Given the description of an element on the screen output the (x, y) to click on. 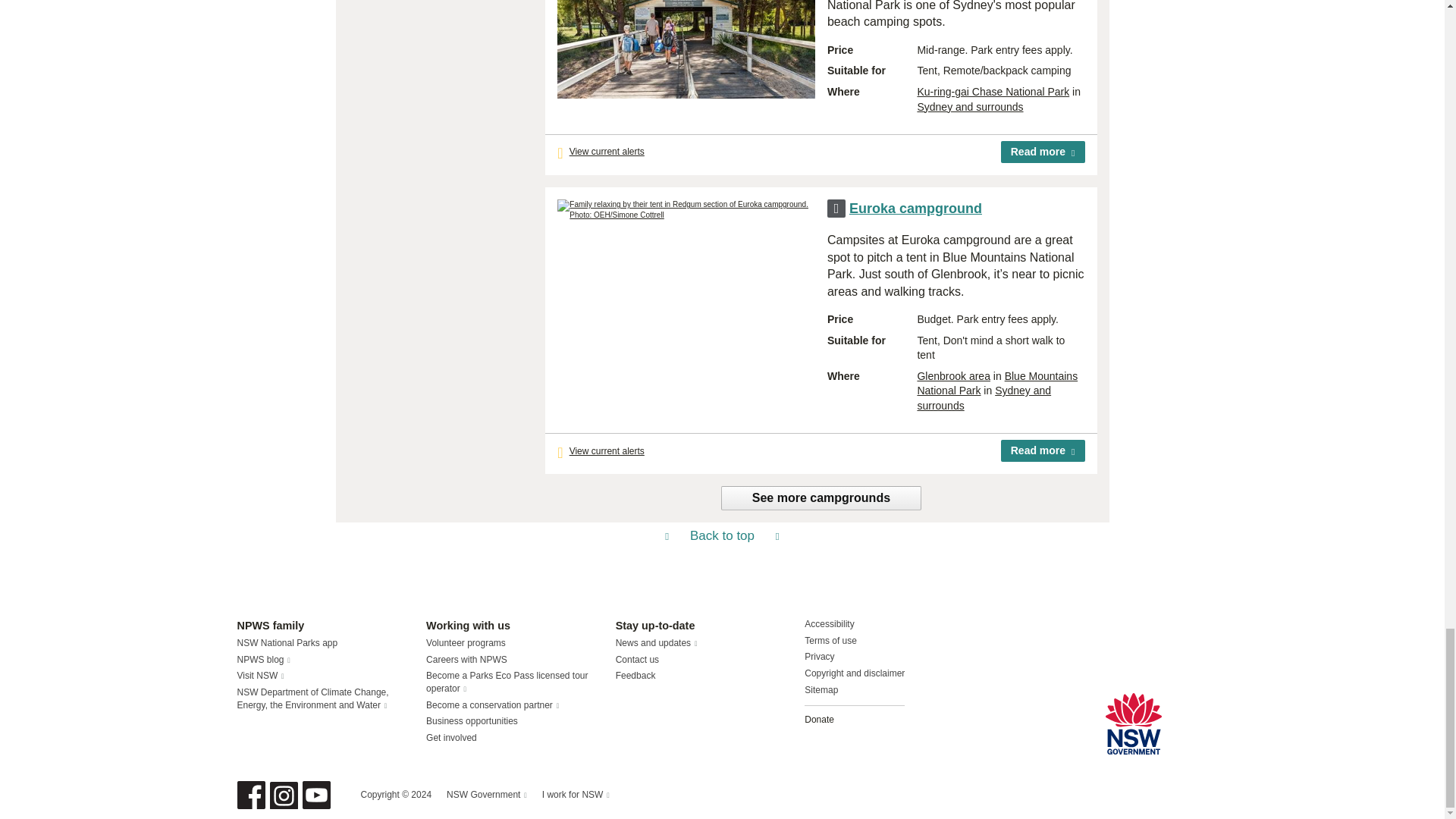
Visit NSW National Parks on Facebook (249, 795)
New South Wales Government (1133, 723)
Visit NSW National Parks on Youtube (315, 795)
Visit NSW National Parks on Instagram (283, 795)
